Given the description of an element on the screen output the (x, y) to click on. 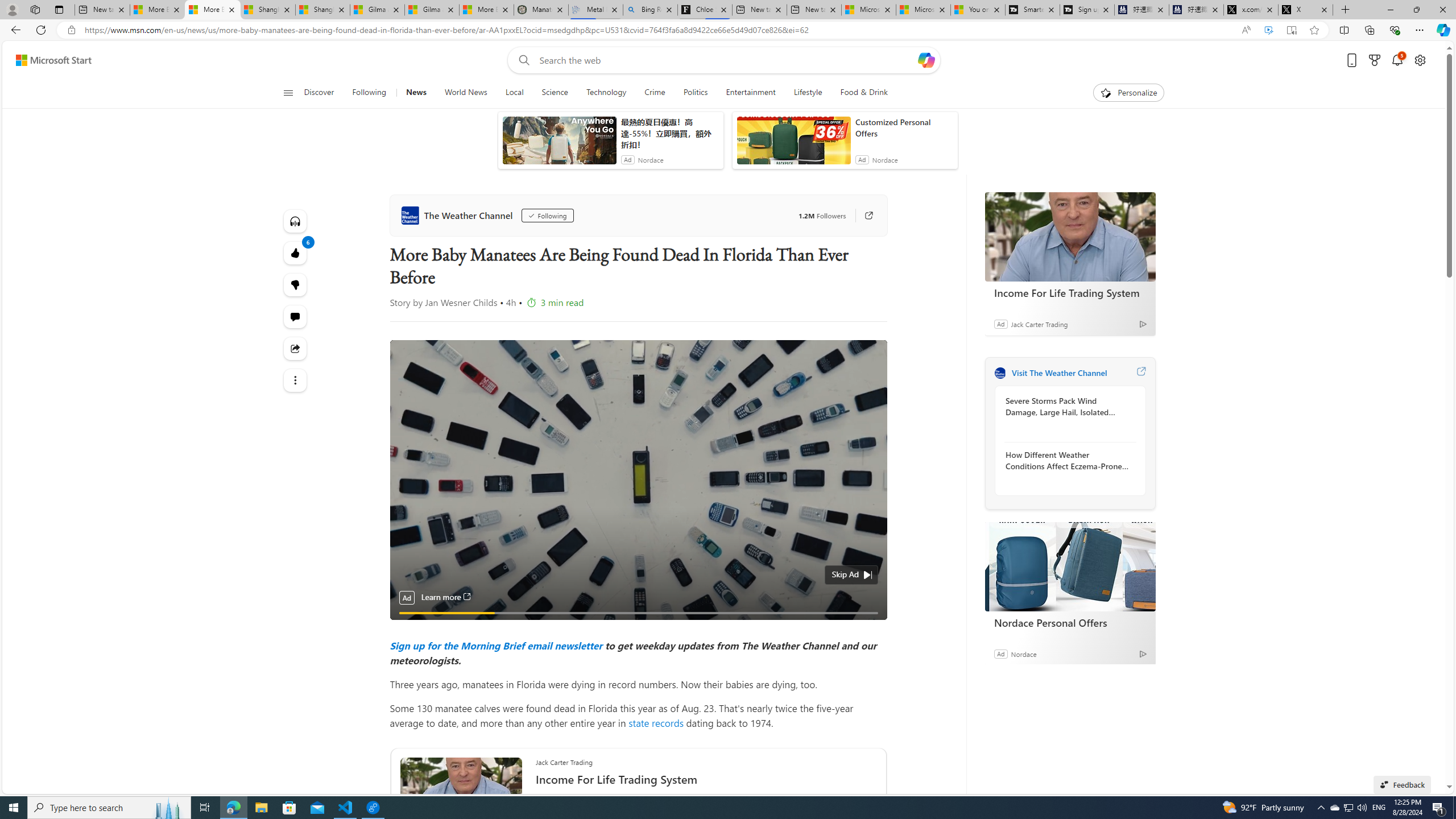
Open navigation menu (287, 92)
Microsoft Start (923, 9)
News (415, 92)
Technology (605, 92)
Jack Carter Trading (1039, 323)
Smarter Living | T3 (1032, 9)
More like this6Fewer like thisStart the conversation (295, 284)
Start the conversation (295, 316)
Open Copilot (926, 59)
X (1306, 9)
Notifications (1397, 60)
Food & Drink (864, 92)
